Given the description of an element on the screen output the (x, y) to click on. 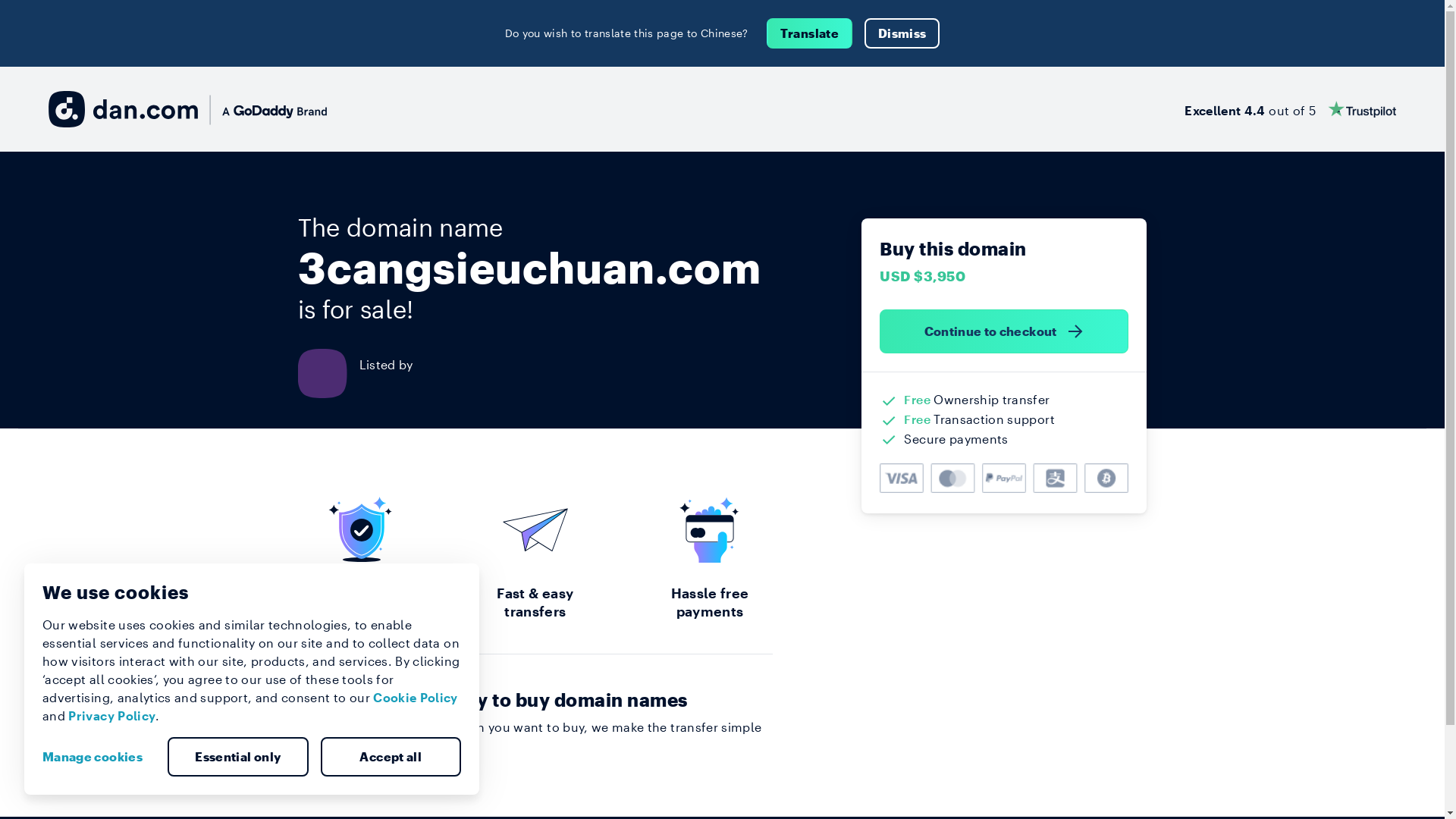
Dismiss Element type: text (901, 33)
Excellent 4.4 out of 5 Element type: text (1290, 109)
Essential only Element type: text (237, 756)
Manage cookies Element type: text (98, 756)
Accept all Element type: text (390, 756)
Continue to checkout
) Element type: text (1003, 331)
Cookie Policy Element type: text (415, 697)
Privacy Policy Element type: text (111, 715)
Translate Element type: text (809, 33)
